Given the description of an element on the screen output the (x, y) to click on. 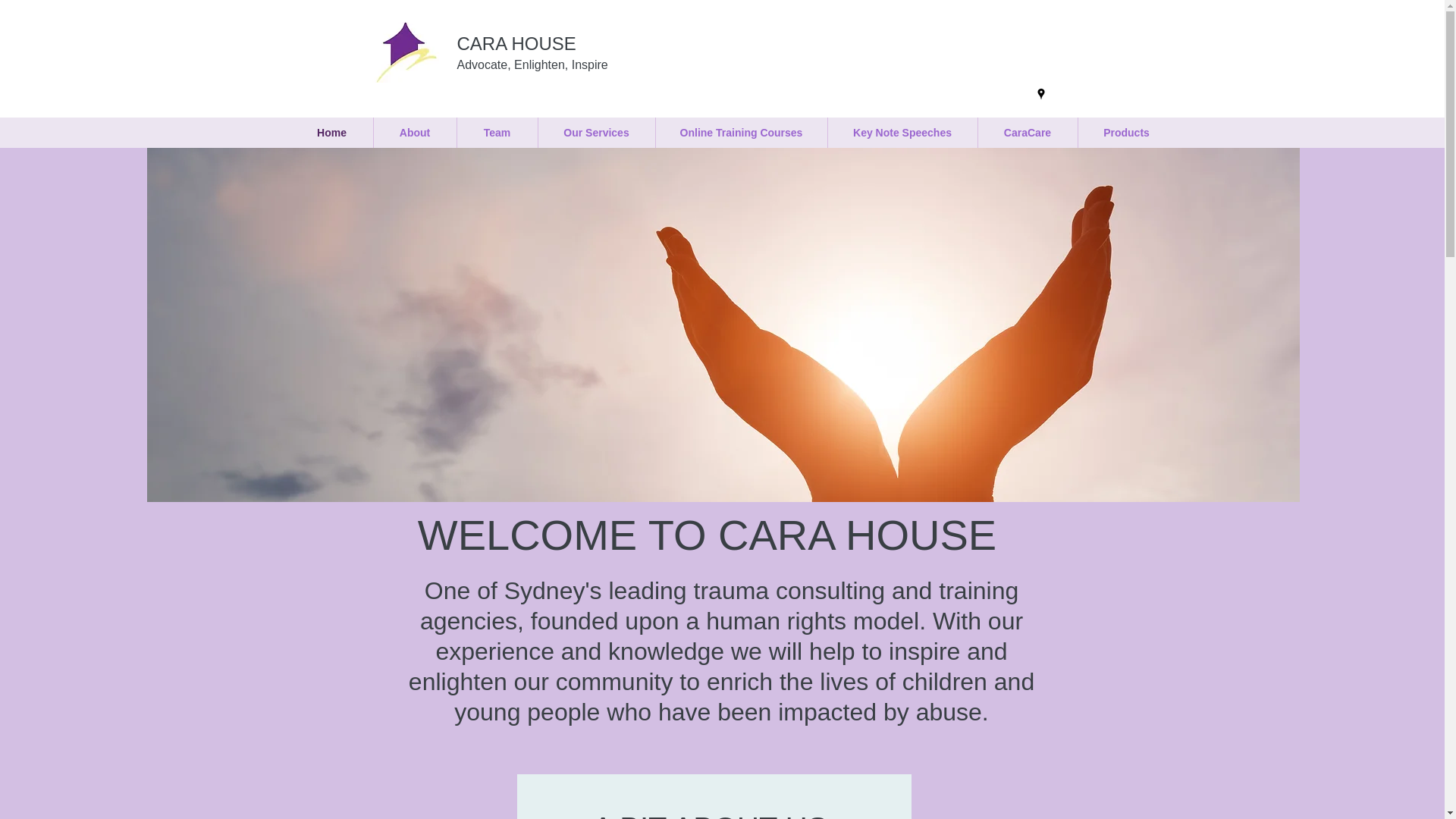
Key Note Speeches (902, 132)
Logo.jpg (405, 52)
Online Training Courses (741, 132)
Our Services (596, 132)
Home (331, 132)
Team (497, 132)
About (413, 132)
CaraCare (1027, 132)
Products (1126, 132)
